Given the description of an element on the screen output the (x, y) to click on. 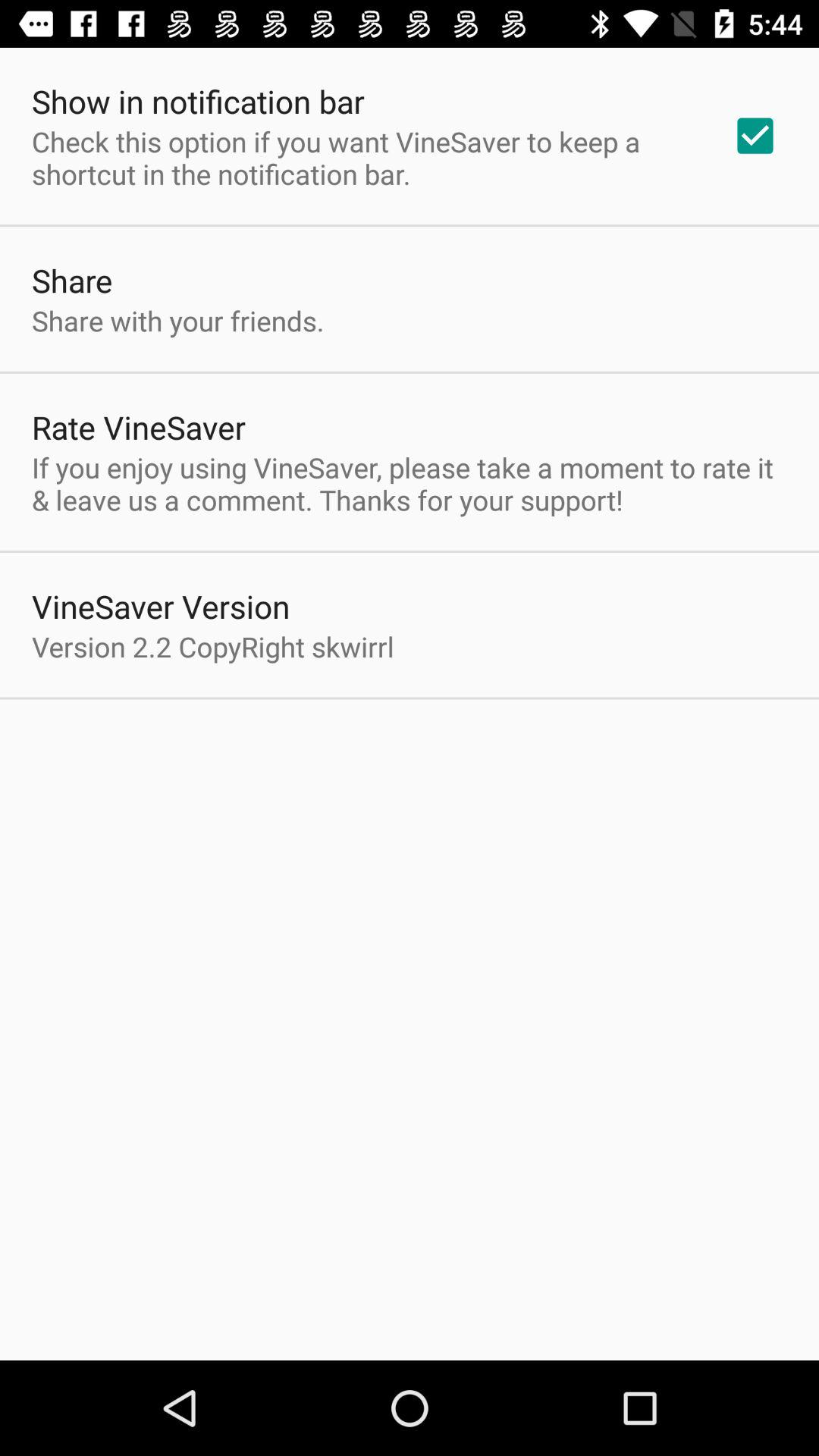
jump to version 2 2 app (212, 646)
